Given the description of an element on the screen output the (x, y) to click on. 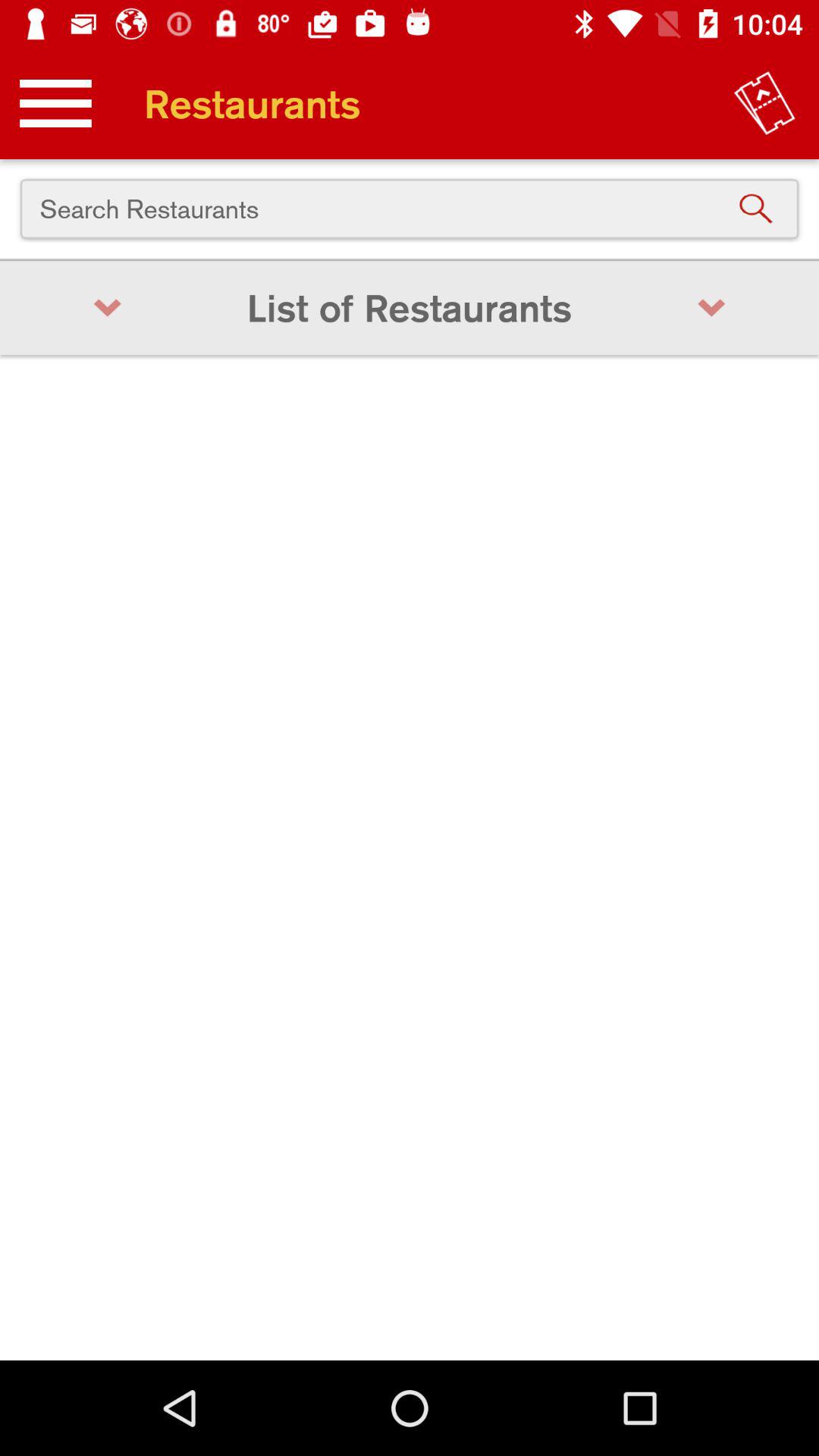
swipe to search restaurants (409, 208)
